Given the description of an element on the screen output the (x, y) to click on. 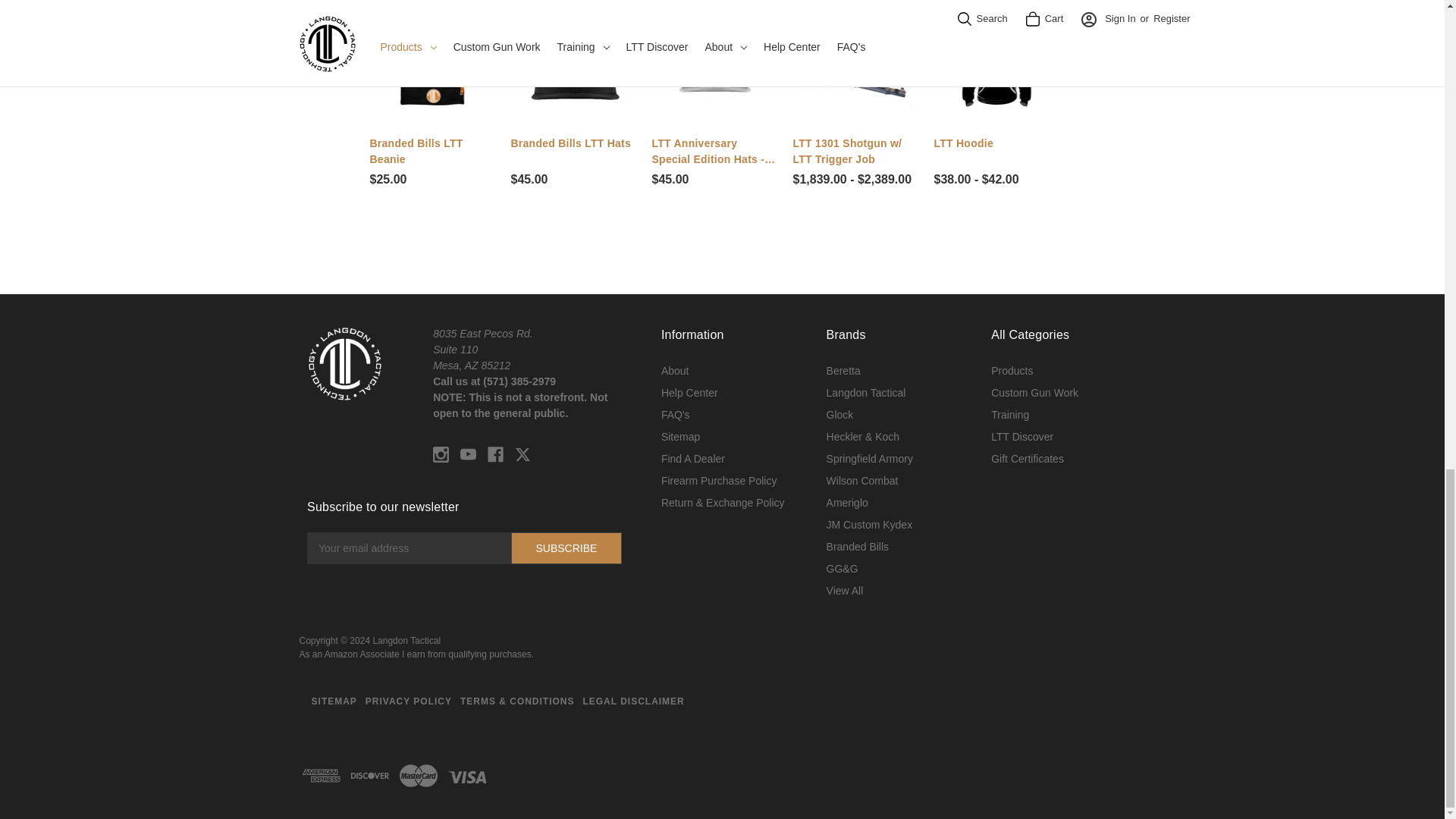
Subscribe (567, 548)
